Given the description of an element on the screen output the (x, y) to click on. 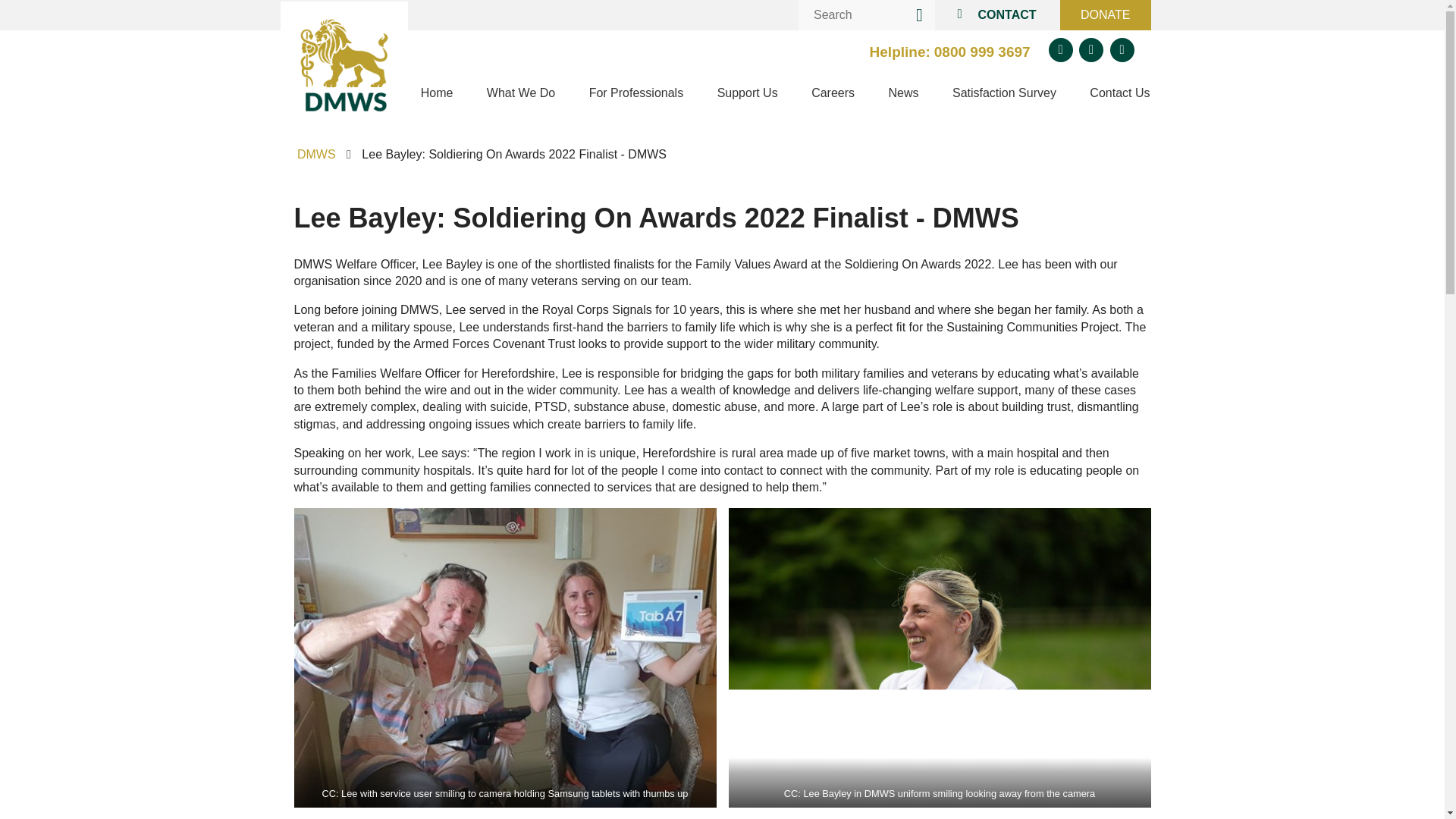
Support Us (747, 94)
News (902, 94)
Home (344, 64)
Twitter (1060, 49)
CONTACT (999, 15)
Home (437, 94)
SEARCH (919, 15)
Contact Us (1119, 94)
DONATE (1104, 15)
Linkedin (1121, 49)
For Professionals (635, 94)
Defence Medical Welfare Service (344, 64)
Satisfaction Survey (1004, 94)
Facebook (1090, 49)
DMWS (316, 154)
